Given the description of an element on the screen output the (x, y) to click on. 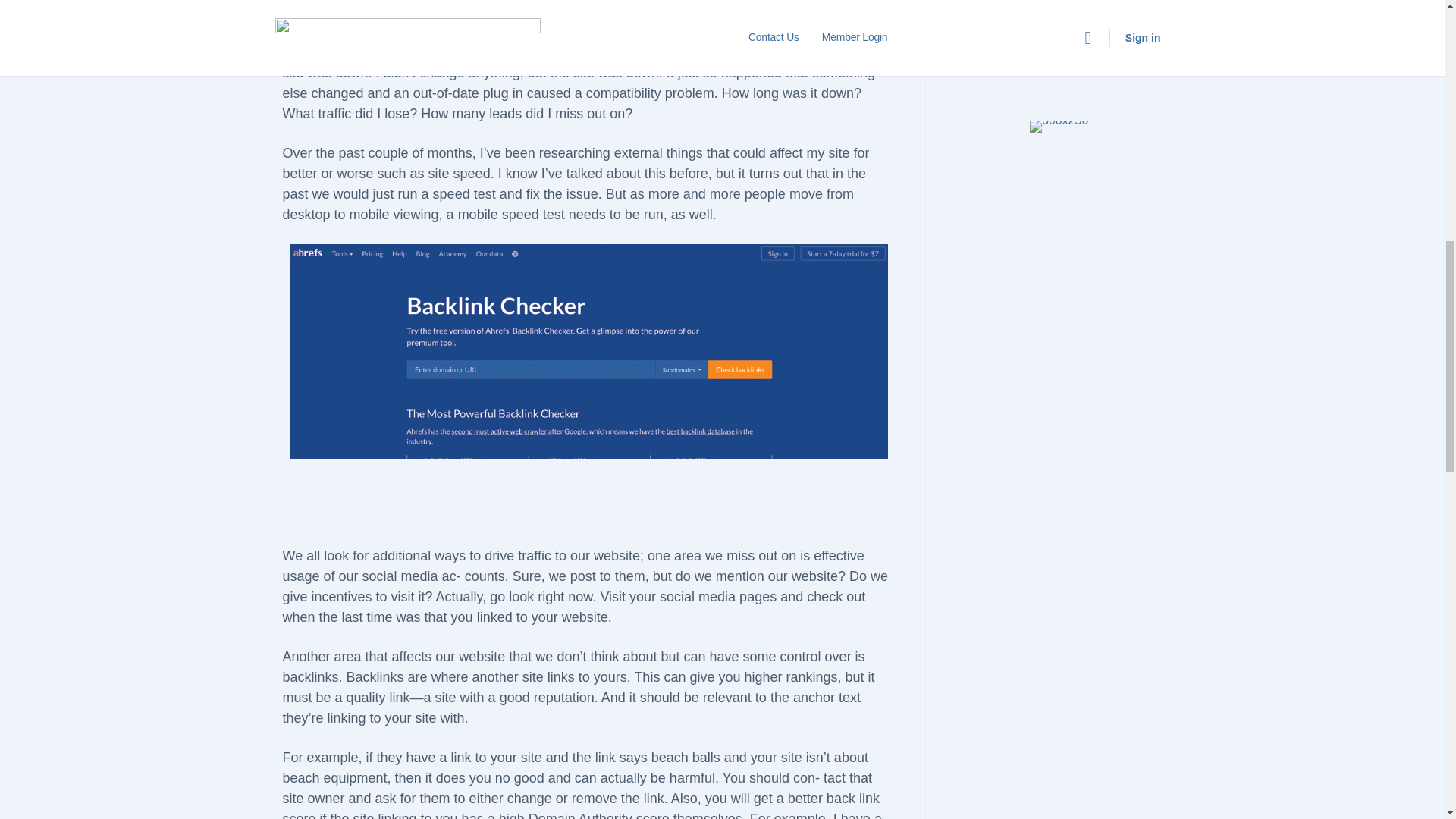
300x250 (1058, 126)
Story (1058, 45)
